Given the description of an element on the screen output the (x, y) to click on. 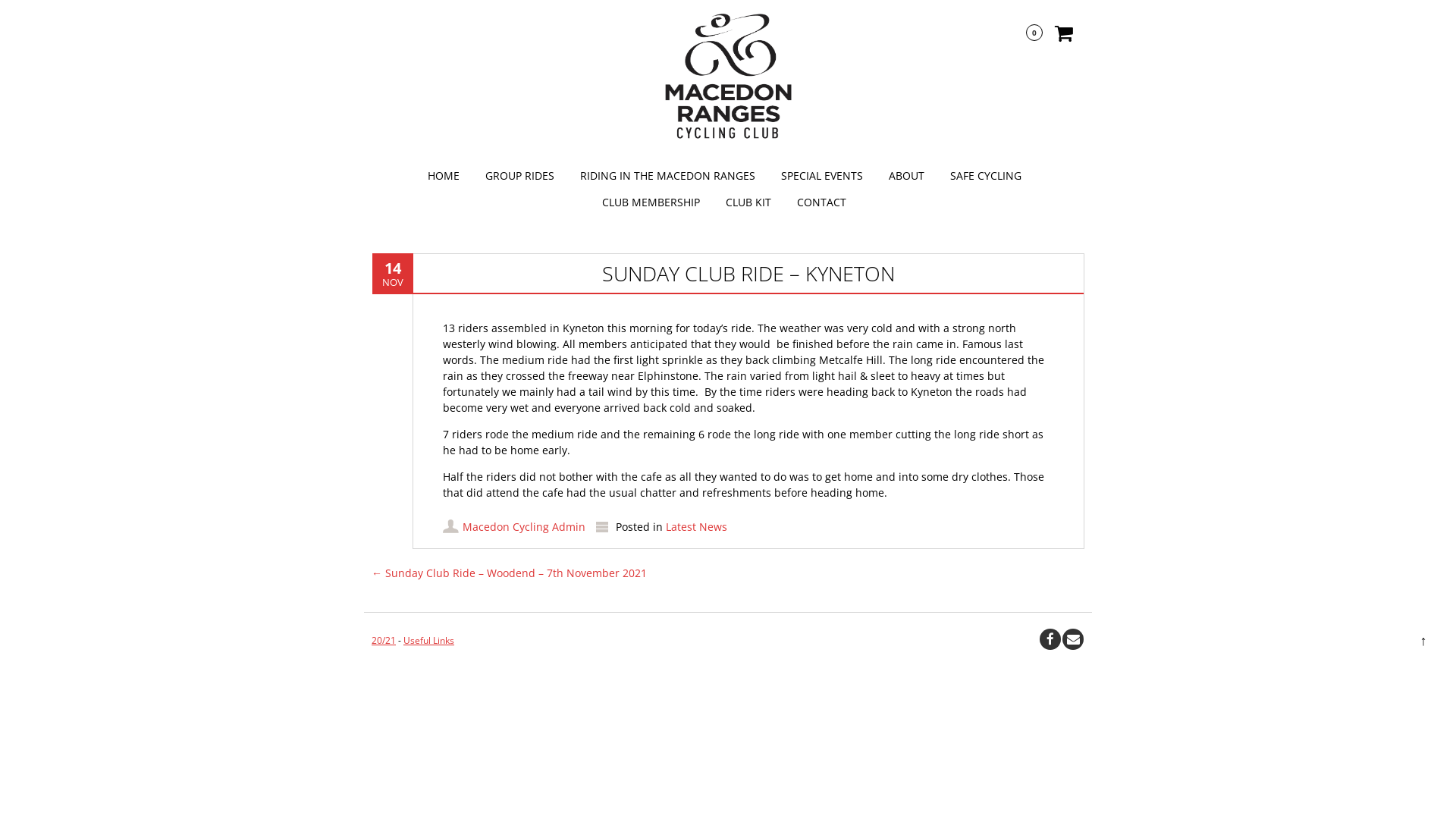
HOME Element type: text (443, 175)
GROUP RIDES Element type: text (519, 175)
ABOUT Element type: text (906, 175)
facebook Element type: hover (1049, 638)
Useful Links Element type: text (428, 639)
Macedon Cycling Admin Element type: text (523, 526)
CONTACT Element type: text (821, 201)
20/21 Element type: text (383, 639)
Country cycling in the beautiful Macedon Ranges Element type: hover (727, 77)
CLUB KIT Element type: text (748, 201)
email Element type: hover (1072, 638)
SAFE CYCLING Element type: text (984, 175)
Latest News Element type: text (696, 526)
RIDING IN THE MACEDON RANGES Element type: text (666, 175)
SPECIAL EVENTS Element type: text (821, 175)
CLUB MEMBERSHIP Element type: text (650, 201)
